Given the description of an element on the screen output the (x, y) to click on. 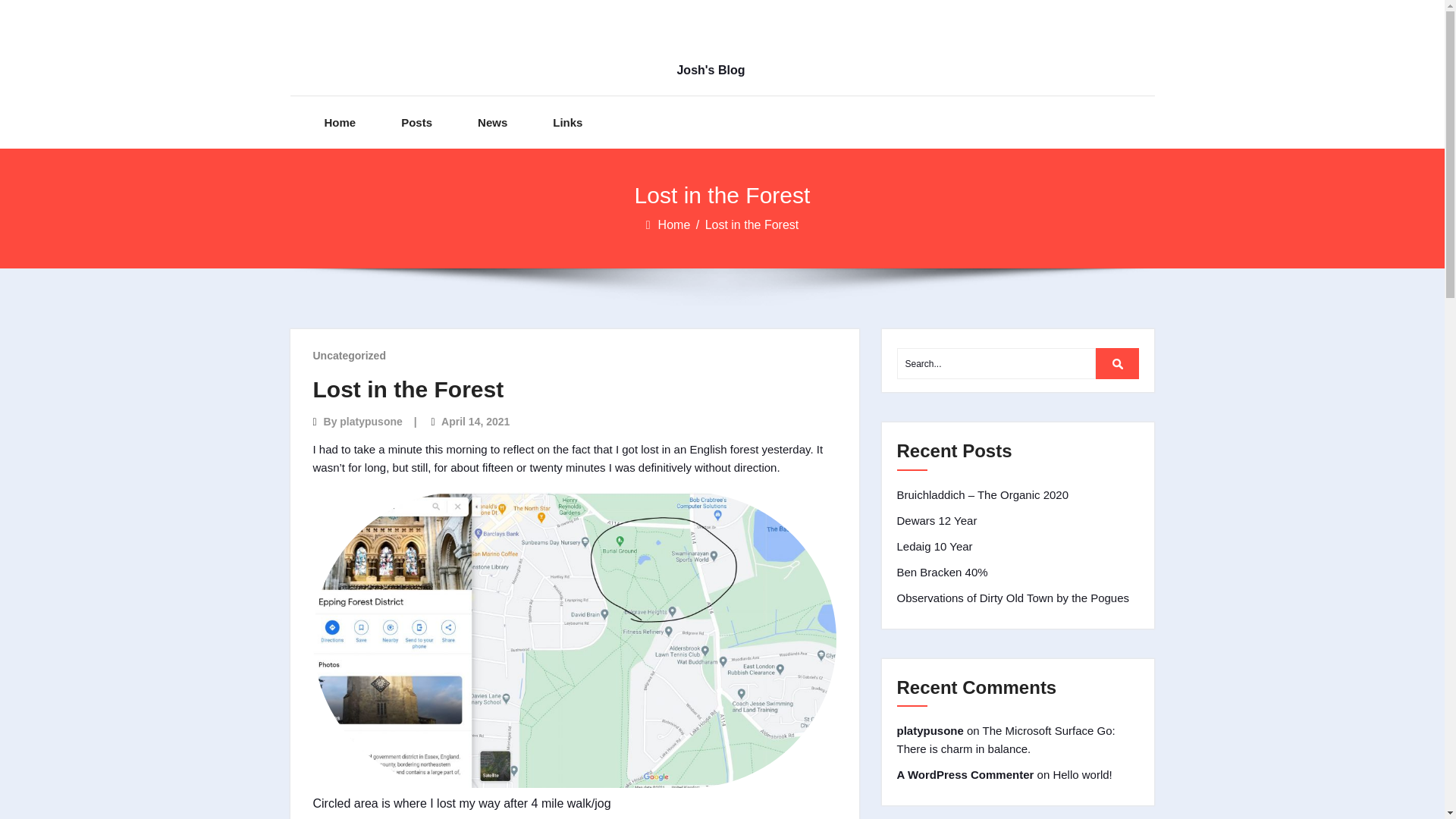
The Microsoft Surface Go: There is charm in balance. (1005, 739)
Uncategorized (349, 355)
Search (1118, 363)
Ledaig 10 Year (934, 546)
Dewars 12 Year (936, 520)
Home (675, 224)
April 14, 2021 (475, 421)
Observations of Dirty Old Town by the Pogues (1012, 597)
platypusone (929, 730)
Hello world! (1082, 774)
